Given the description of an element on the screen output the (x, y) to click on. 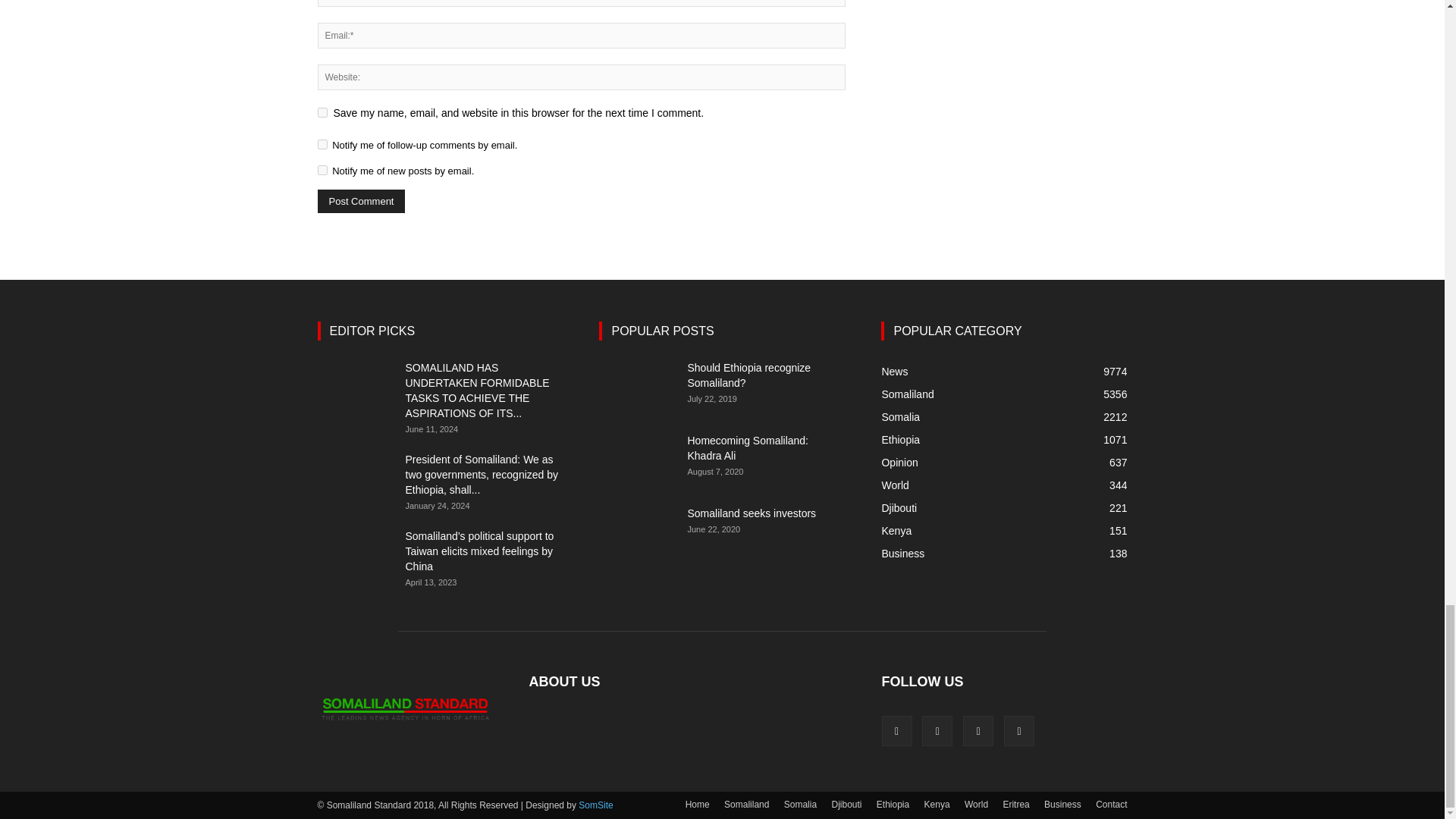
Post Comment (360, 200)
yes (321, 112)
subscribe (321, 170)
subscribe (321, 144)
